Given the description of an element on the screen output the (x, y) to click on. 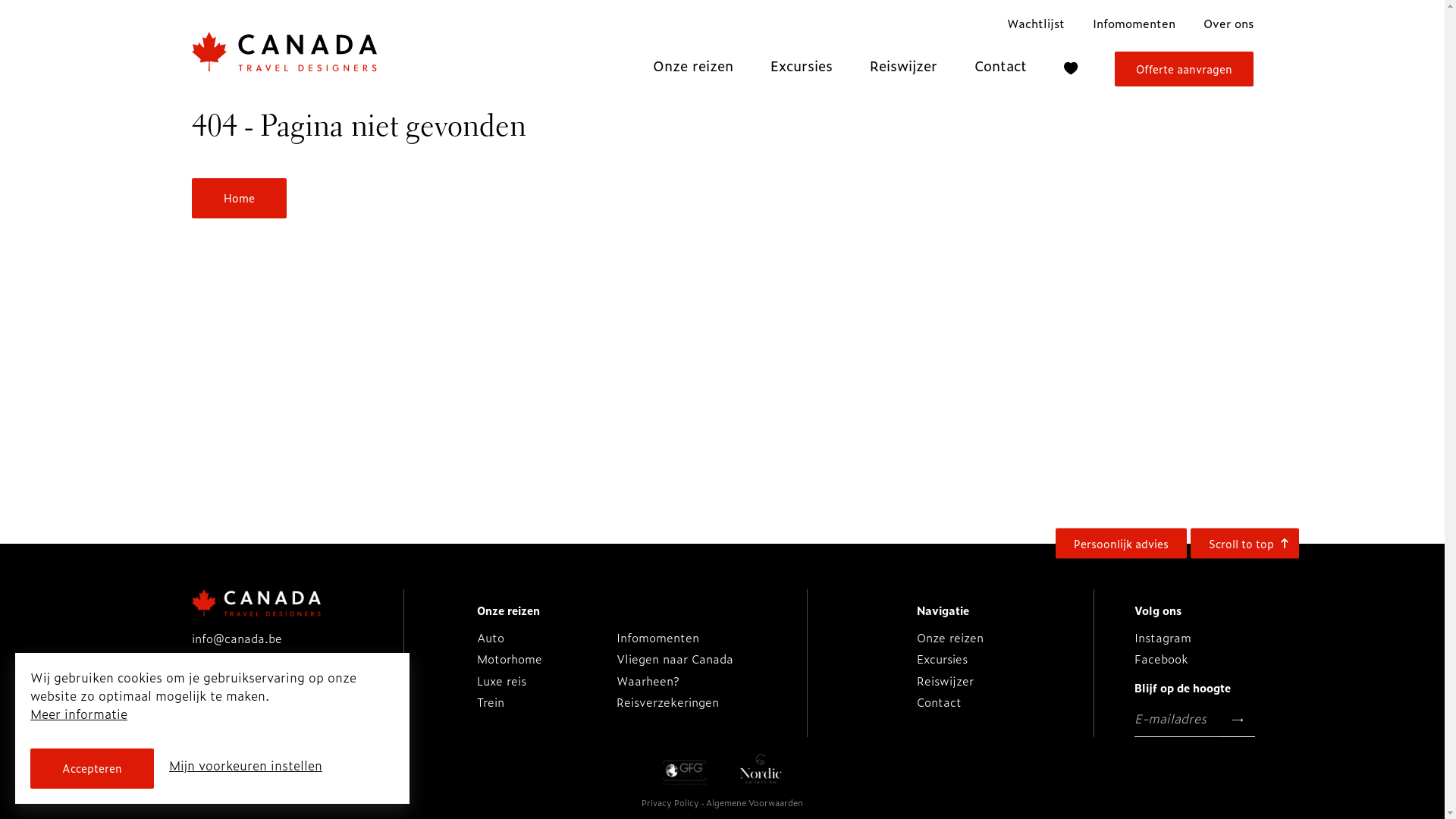
Mijn voorkeuren instellen Element type: text (245, 765)
Reiswijzer Element type: text (944, 680)
Reiswijzer Element type: text (902, 65)
Excursies Element type: text (801, 65)
Offerte aanvragen Element type: text (1183, 69)
Trein Element type: text (490, 701)
Meer informatie Element type: text (78, 713)
Facebook Element type: text (1161, 658)
Accepteren Element type: text (91, 768)
Algemene Voorwaarden Element type: text (754, 802)
Persoonlijk advies Element type: text (1120, 542)
Excursies Element type: text (941, 658)
Instagram Element type: text (1162, 637)
Luxe reis Element type: text (501, 680)
Over ons Element type: text (1227, 22)
Auto Element type: text (490, 637)
Contact Element type: text (999, 65)
+32 (0)9 216 80 98 Element type: text (246, 659)
Onze reizen Element type: text (949, 637)
Brusselsesteenweg 153A001
9090 Melle Element type: text (270, 692)
Onze reizen Element type: text (692, 65)
Reisverzekeringen Element type: text (667, 701)
Infomomenten Element type: text (1133, 22)
Contact Element type: text (938, 701)
Home Element type: text (238, 198)
Waarheen? Element type: text (647, 680)
Scroll to top Element type: text (1244, 542)
Infomomenten Element type: text (657, 637)
Onze reizen Element type: text (507, 610)
Vliegen naar Canada Element type: text (674, 658)
Privacy Policy Element type: text (671, 802)
Motorhome Element type: text (509, 658)
info@canada.be Element type: text (236, 637)
Wachtlijst Element type: text (1035, 22)
